Given the description of an element on the screen output the (x, y) to click on. 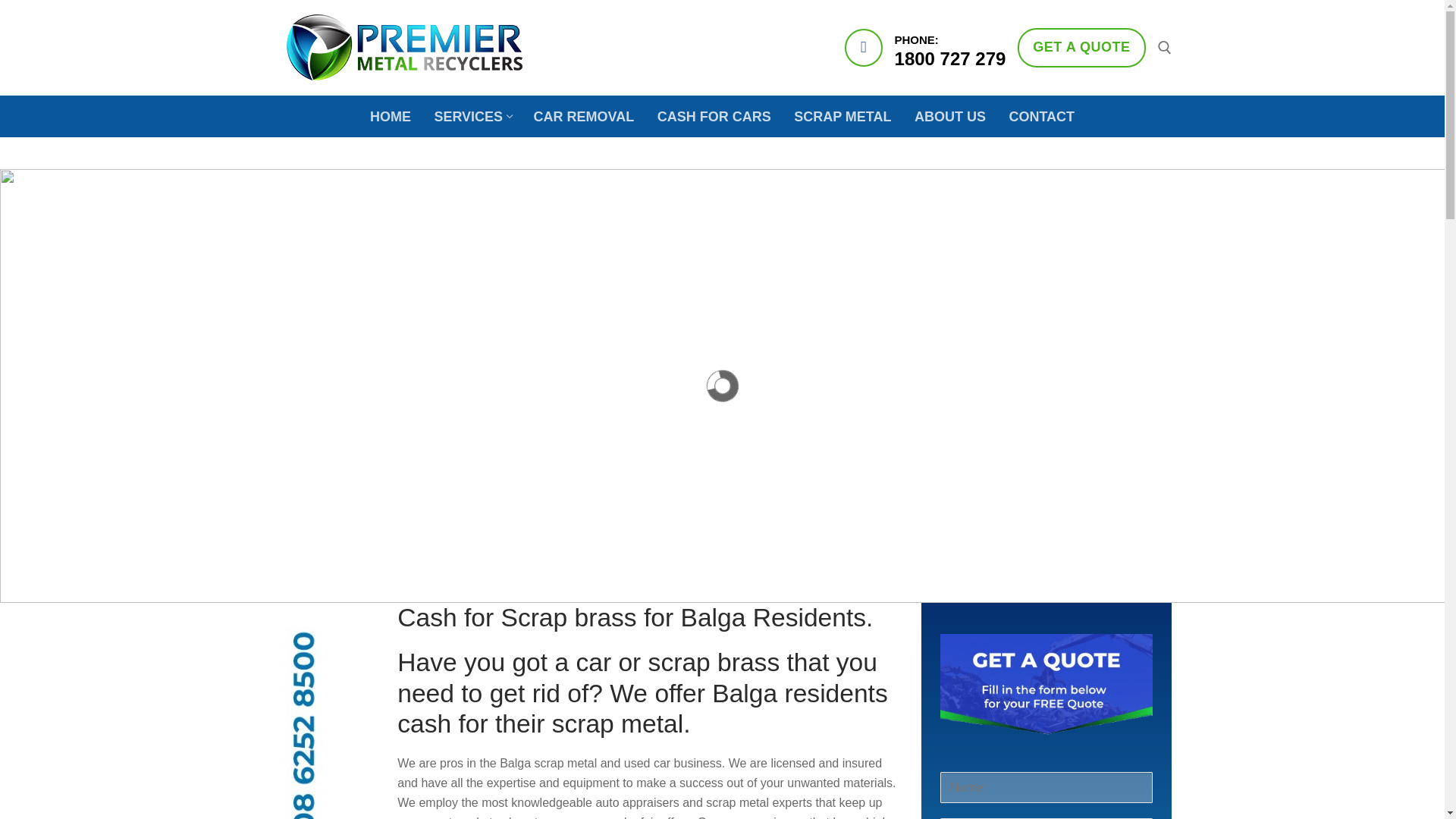
SCRAP METAL (471, 115)
CAR REMOVAL (842, 115)
CONTACT (584, 115)
GET A QUOTE (1041, 115)
CASH FOR CARS (1080, 47)
HOME (713, 115)
ABOUT US (389, 115)
